Given the description of an element on the screen output the (x, y) to click on. 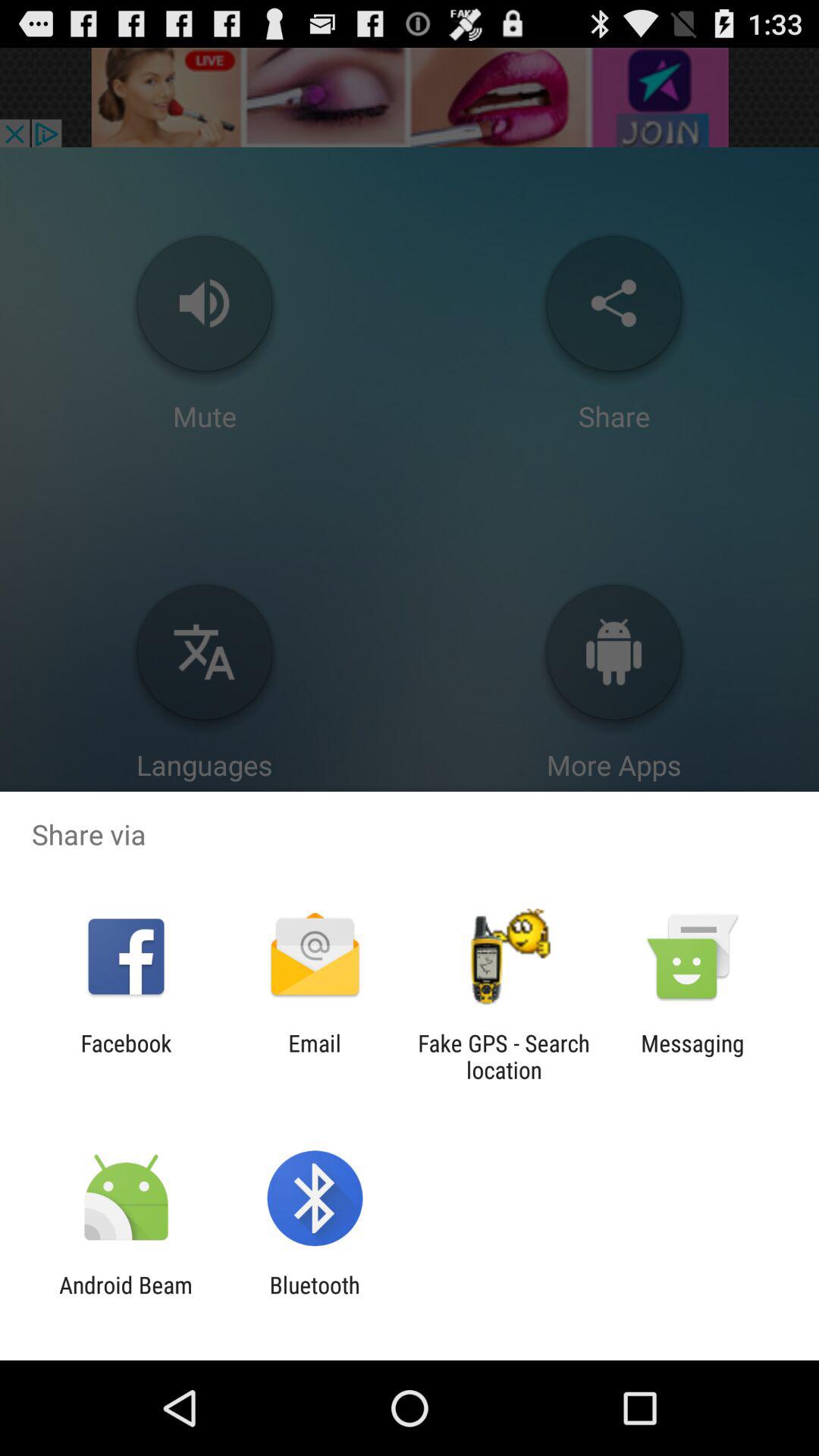
turn on app next to the fake gps search icon (314, 1056)
